Given the description of an element on the screen output the (x, y) to click on. 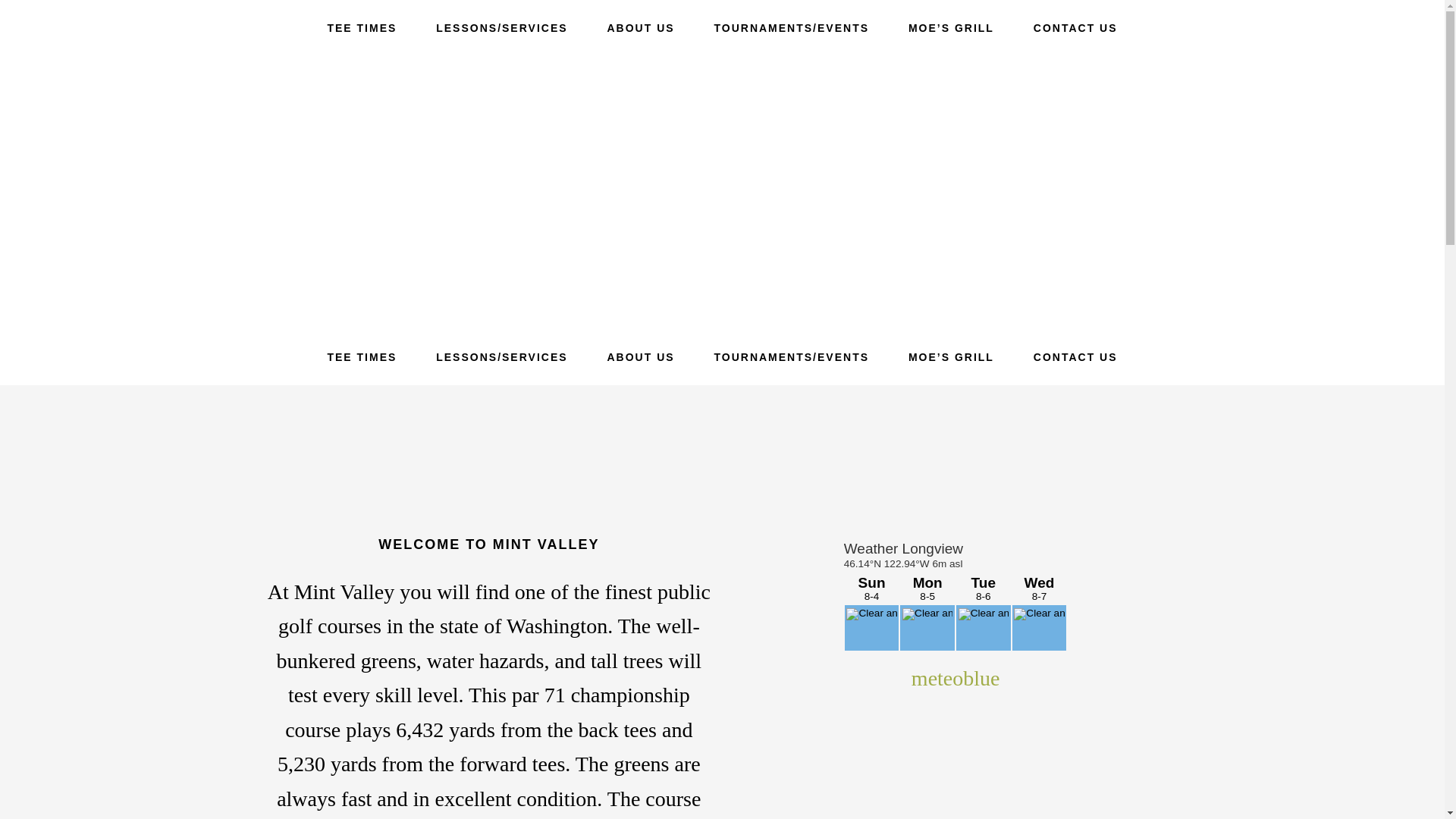
CONTACT US (1074, 28)
ABOUT US (640, 28)
TEE TIMES (361, 356)
MINT VALLEY GOLF COURSE (722, 192)
TEE TIMES (361, 28)
